Given the description of an element on the screen output the (x, y) to click on. 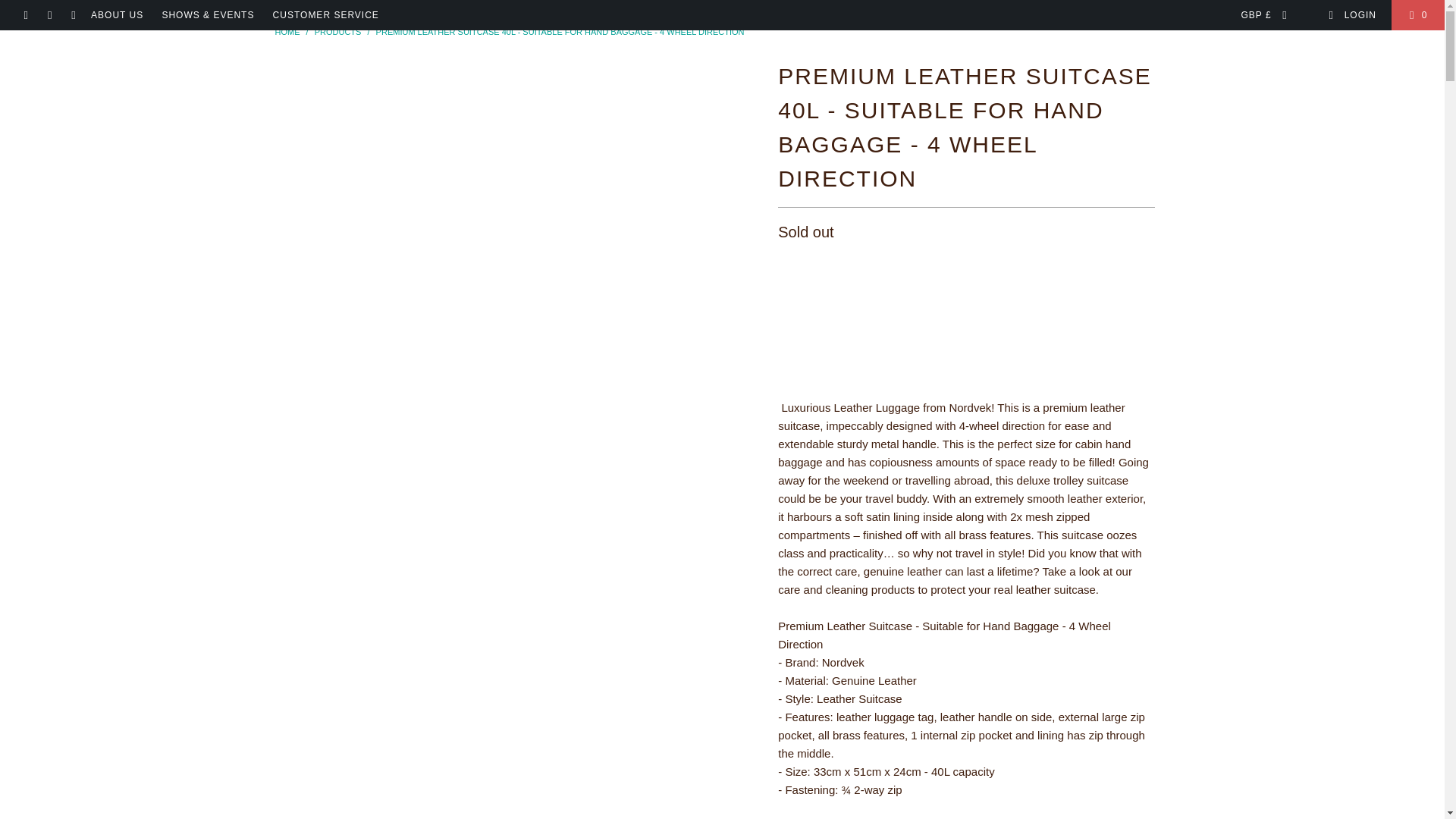
My Account  (1351, 15)
Nordvek (287, 31)
Nordvek on Instagram (48, 14)
Email Nordvek (73, 14)
Products (337, 31)
Nordvek on Facebook (25, 14)
